Given the description of an element on the screen output the (x, y) to click on. 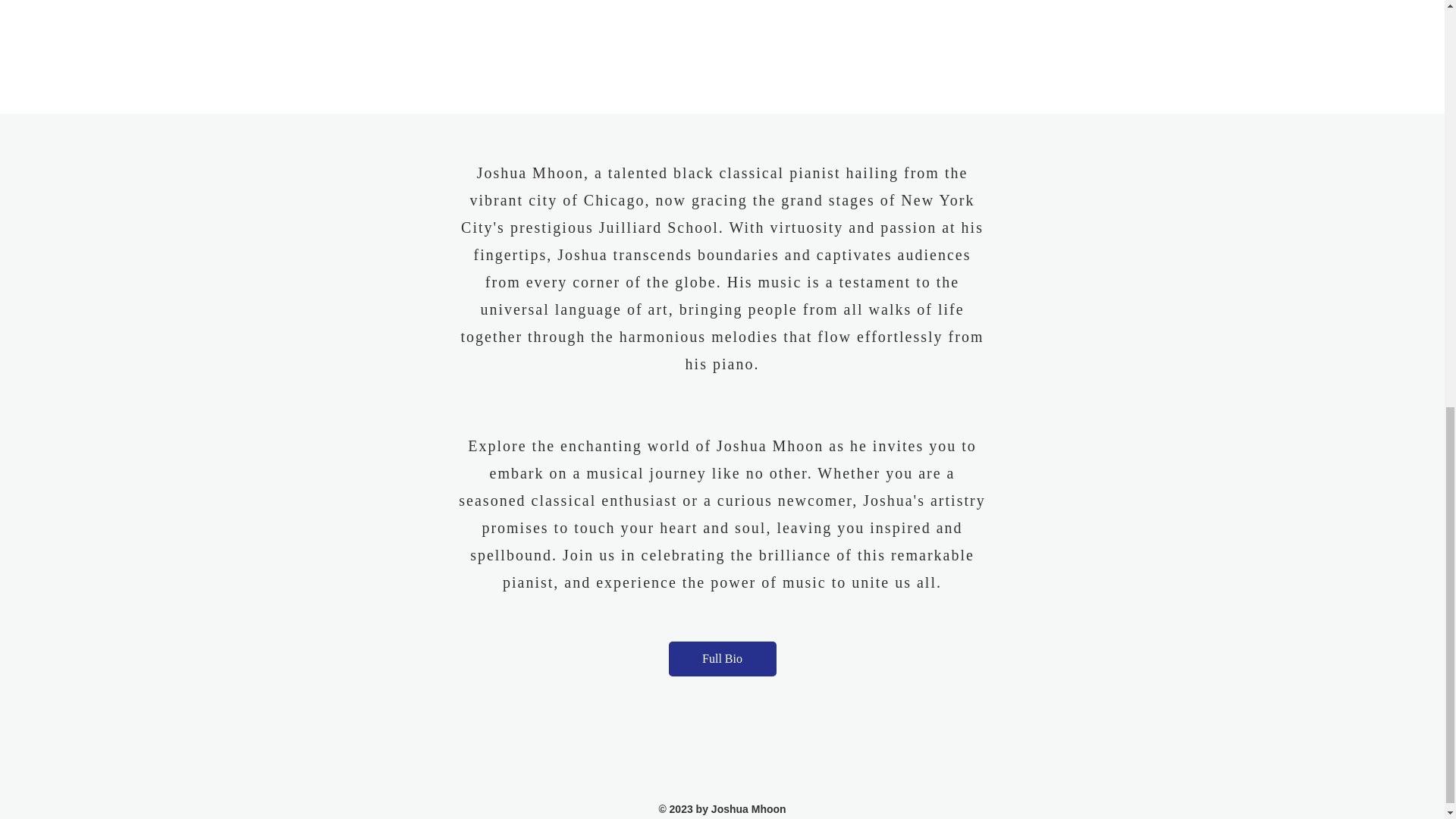
Full Bio (722, 658)
